Given the description of an element on the screen output the (x, y) to click on. 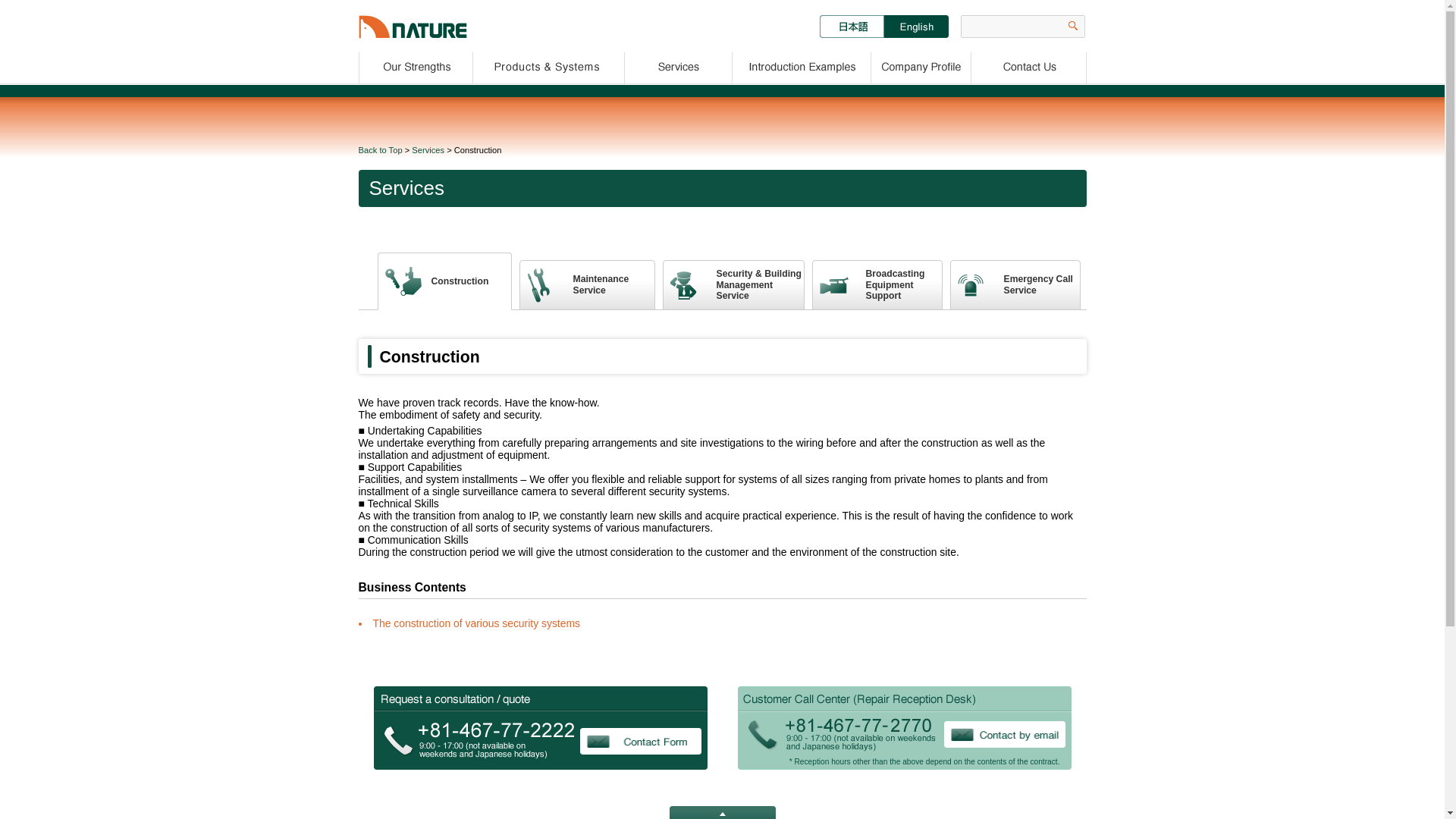
Back to Top (379, 149)
Our Strengths (414, 64)
Construction (444, 281)
Maintenance Service (1015, 285)
Contact Us (586, 285)
Services (877, 285)
Introduction Examples (1029, 64)
Company Profile (428, 149)
Services (802, 64)
